Given the description of an element on the screen output the (x, y) to click on. 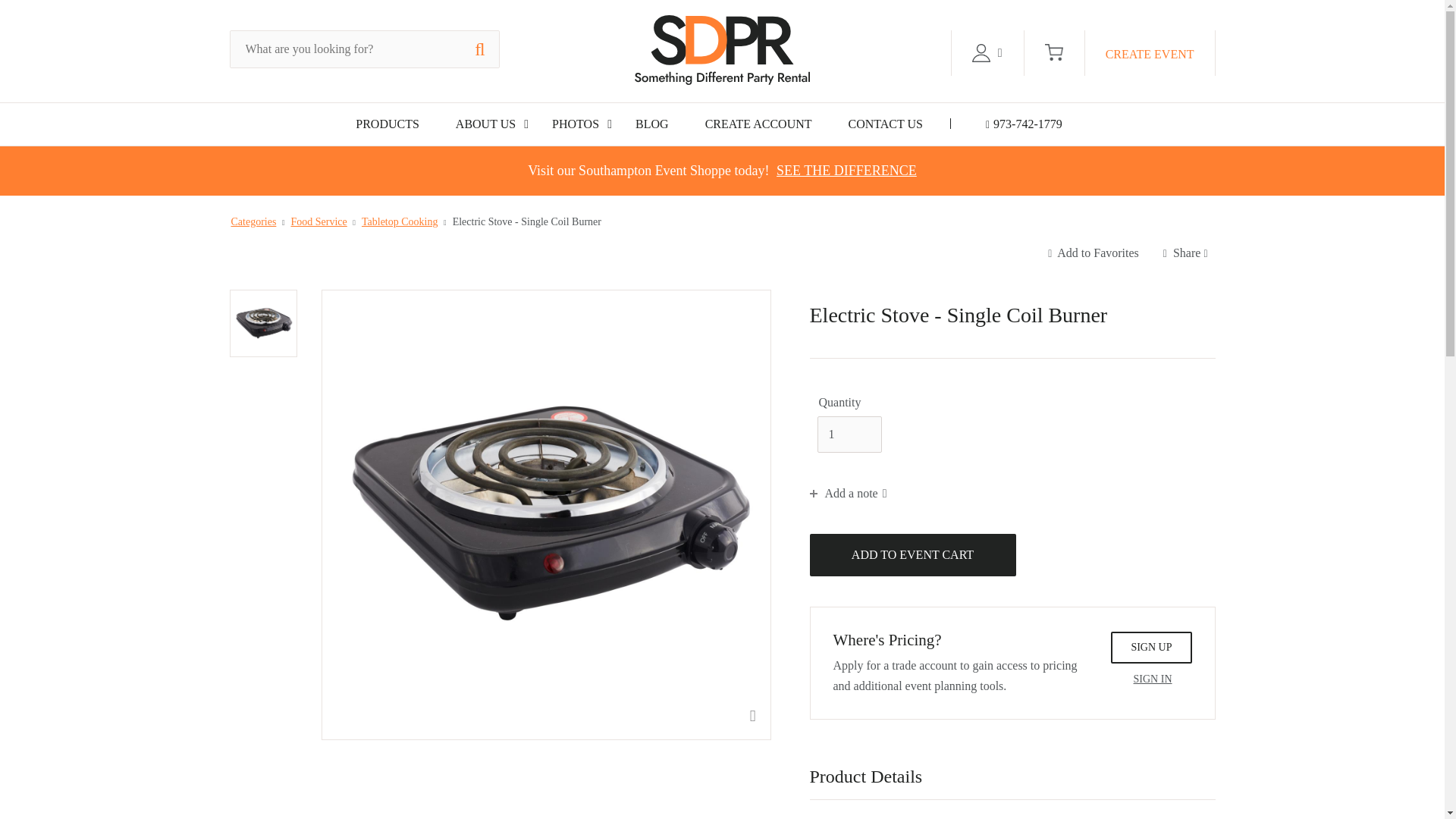
Create Account (759, 124)
PHOTOS (574, 124)
Sign In (1152, 679)
1 (849, 434)
CREATE EVENT (1149, 53)
Contact Us (885, 124)
Blog (652, 124)
About Us (485, 124)
PRODUCTS (387, 124)
Products (387, 124)
SIGN UP (1150, 647)
CONTACT US (885, 124)
SEE THE DIFFERENCE (846, 170)
SIGN IN (1152, 679)
CREATE ACCOUNT (759, 124)
